Given the description of an element on the screen output the (x, y) to click on. 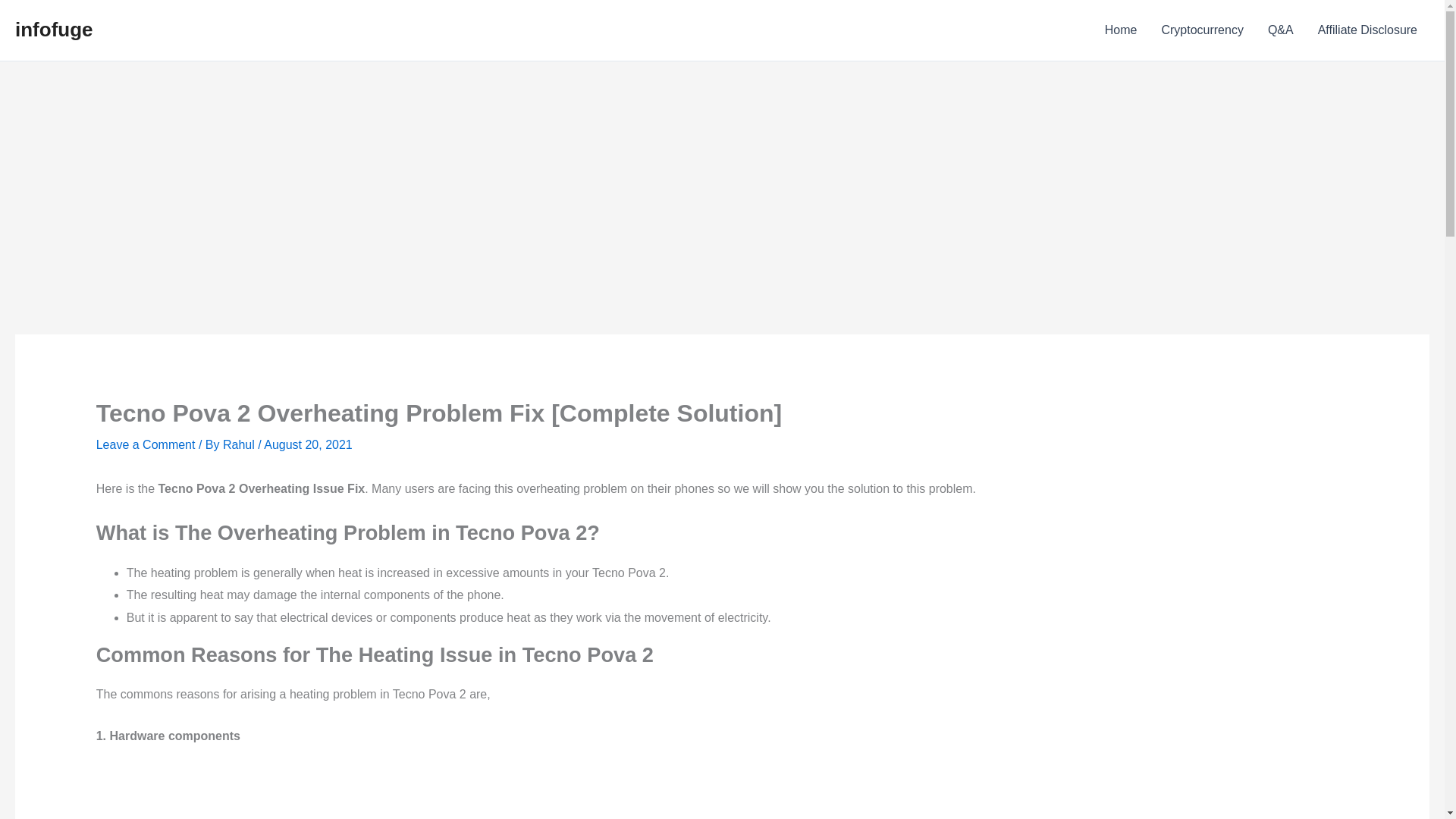
Cryptocurrency (1201, 30)
Affiliate Disclosure (1367, 30)
Home (1121, 30)
View all posts by Rahul (239, 444)
infofuge (53, 29)
Articles (1121, 30)
Advertisement (721, 793)
